Given the description of an element on the screen output the (x, y) to click on. 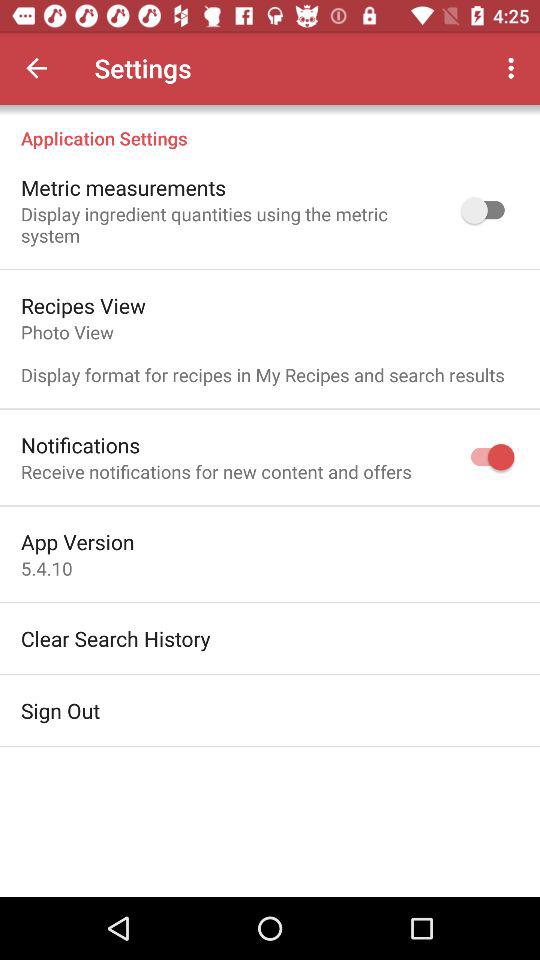
select app to the left of the settings item (36, 68)
